Given the description of an element on the screen output the (x, y) to click on. 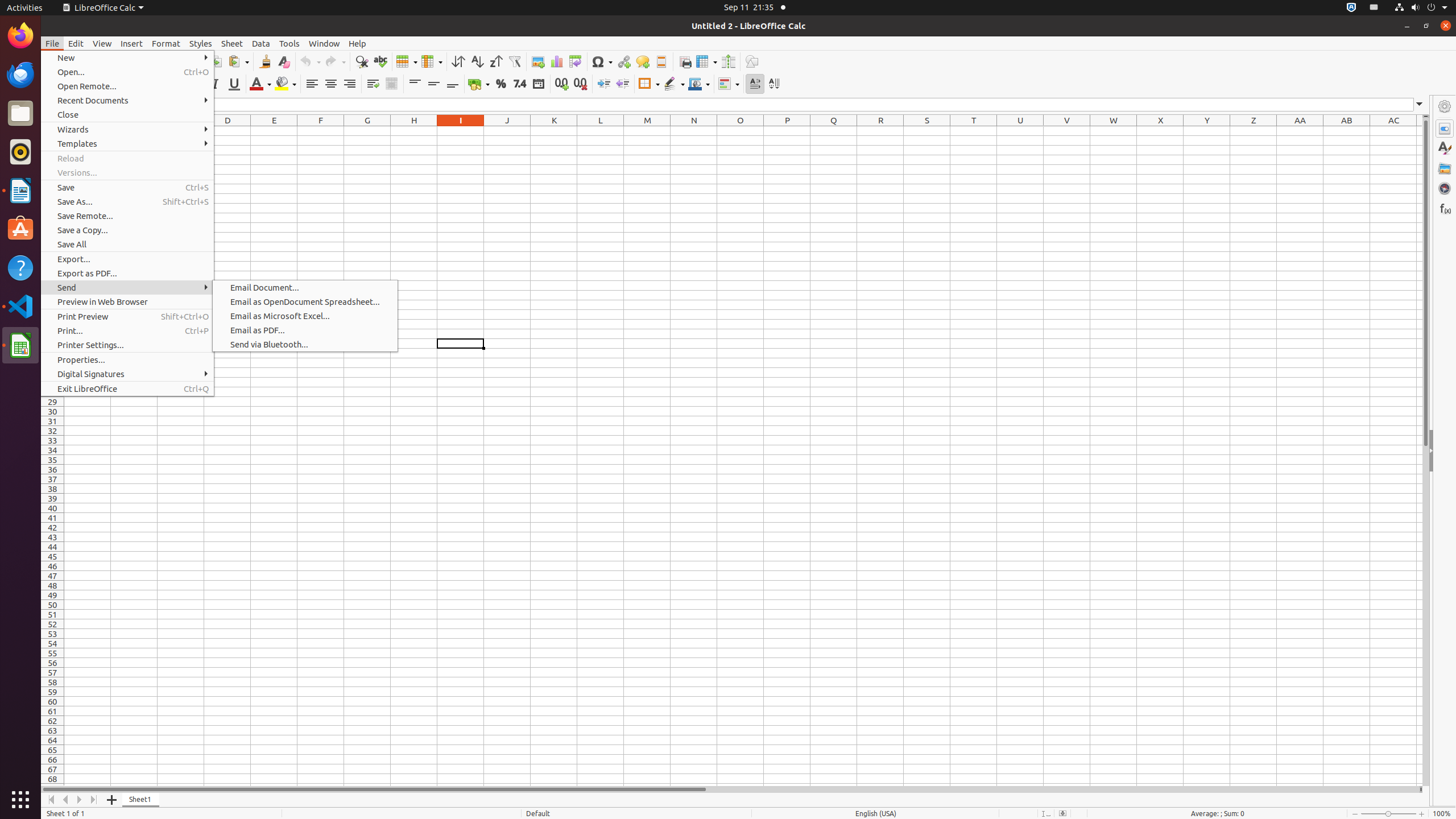
Decrease Element type: push-button (622, 83)
Move To Home Element type: push-button (51, 799)
View Element type: menu (102, 43)
Move Left Element type: push-button (65, 799)
